Given the description of an element on the screen output the (x, y) to click on. 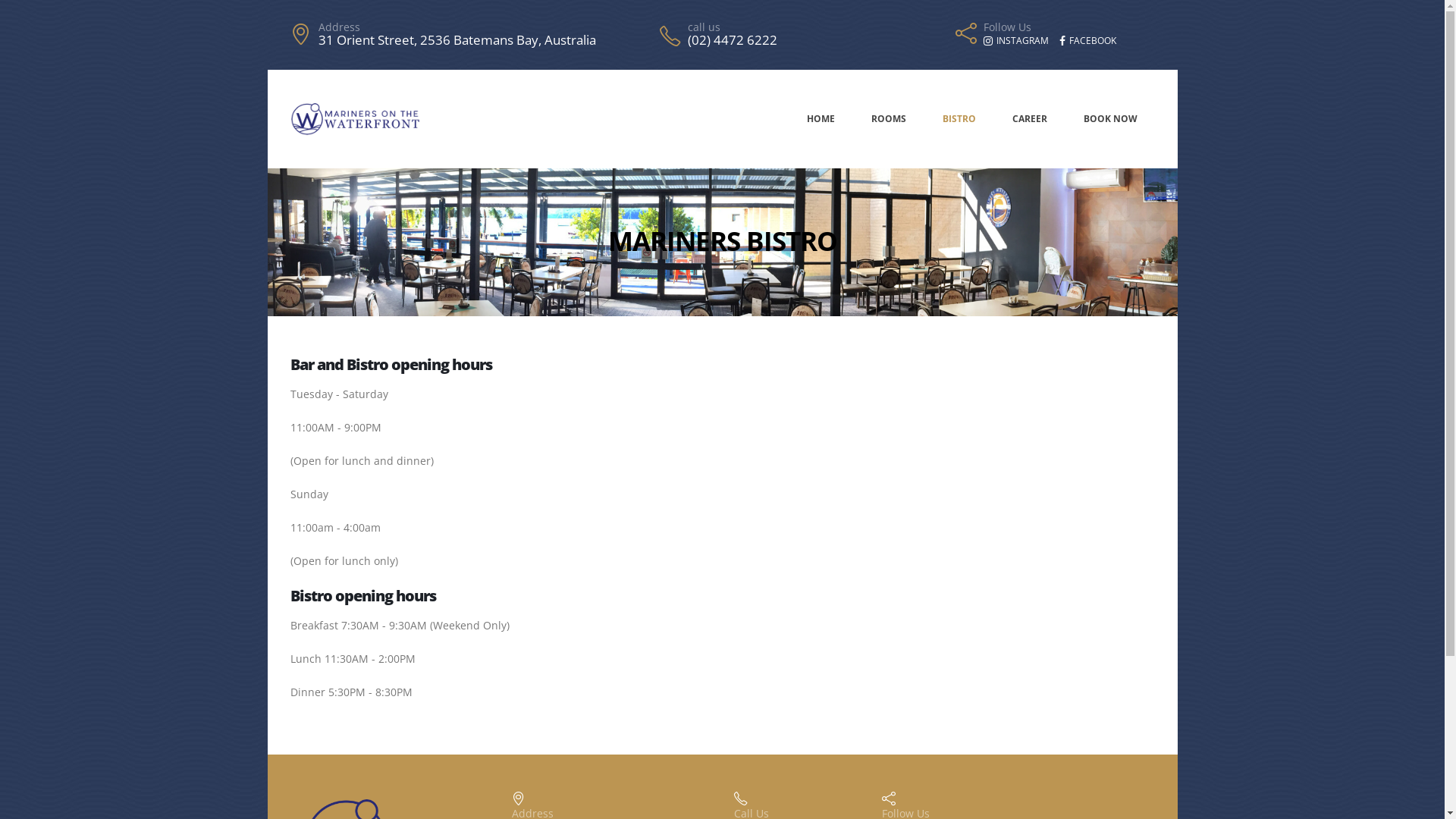
BOOK NOW Element type: text (1110, 118)
BISTRO Element type: text (959, 118)
CAREER Element type: text (1029, 118)
FACEBOOK Element type: text (1087, 40)
INSTAGRAM Element type: text (1015, 40)
HOME Element type: text (819, 118)
ROOMS Element type: text (888, 118)
